Given the description of an element on the screen output the (x, y) to click on. 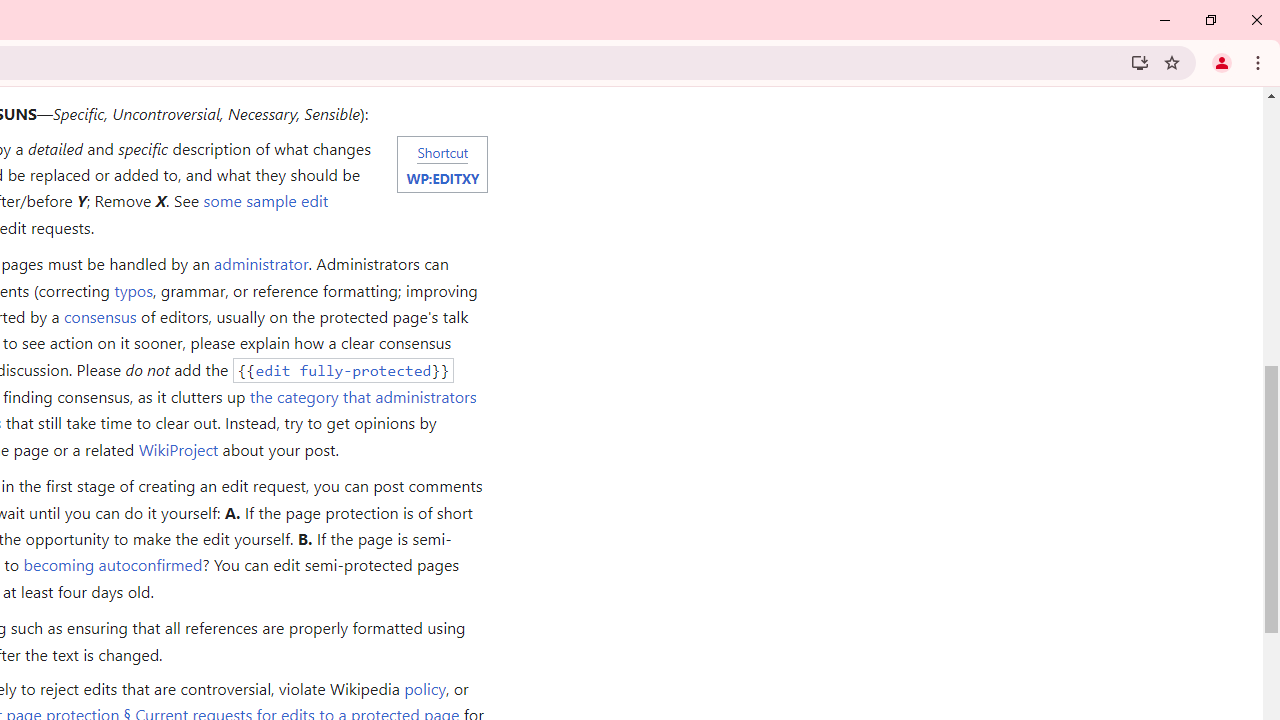
administrator (260, 263)
Minimize (1165, 20)
